Given the description of an element on the screen output the (x, y) to click on. 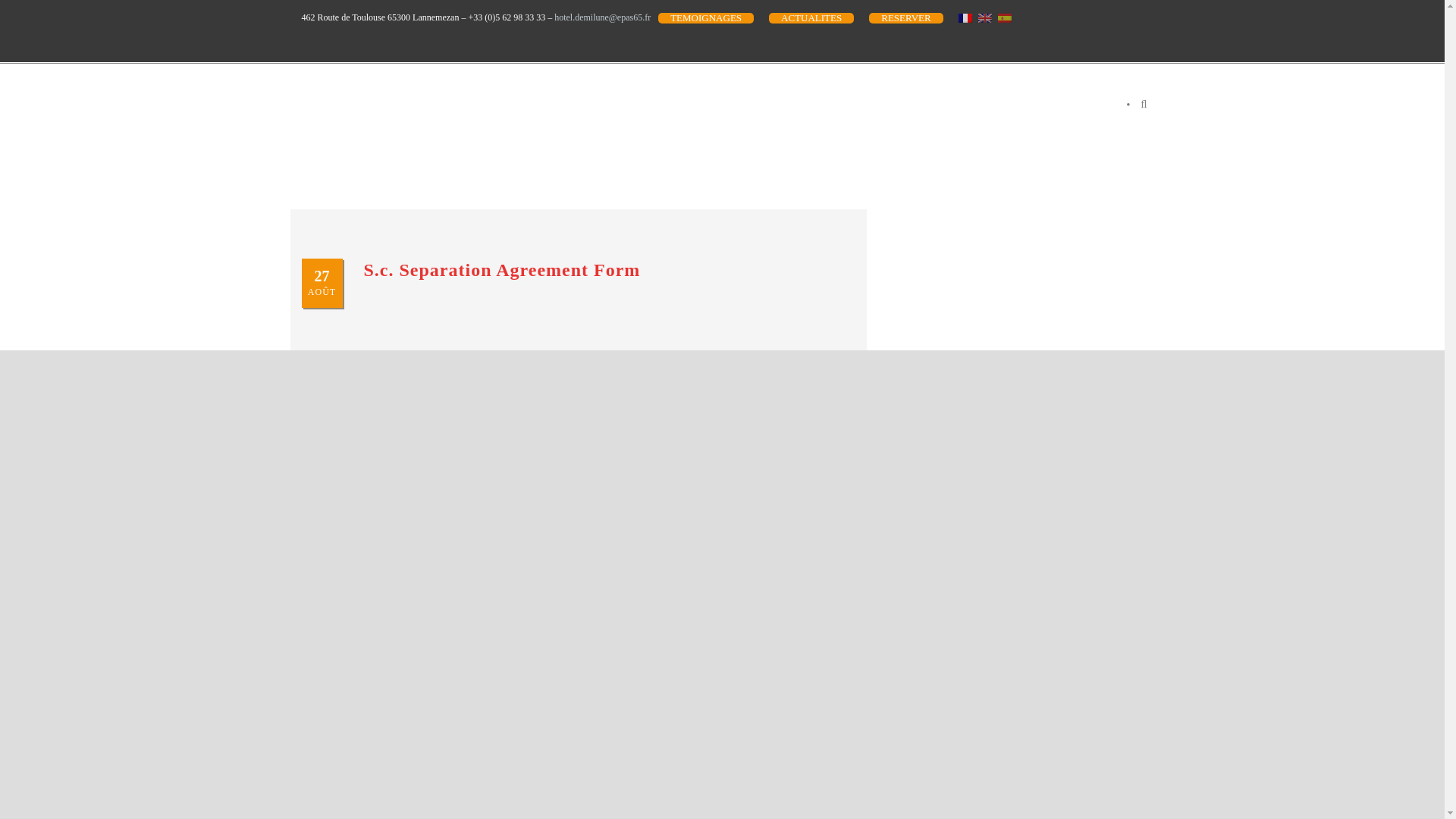
RESERVER (905, 18)
TEMOIGNAGES (706, 18)
ACTUALITES (810, 18)
